Given the description of an element on the screen output the (x, y) to click on. 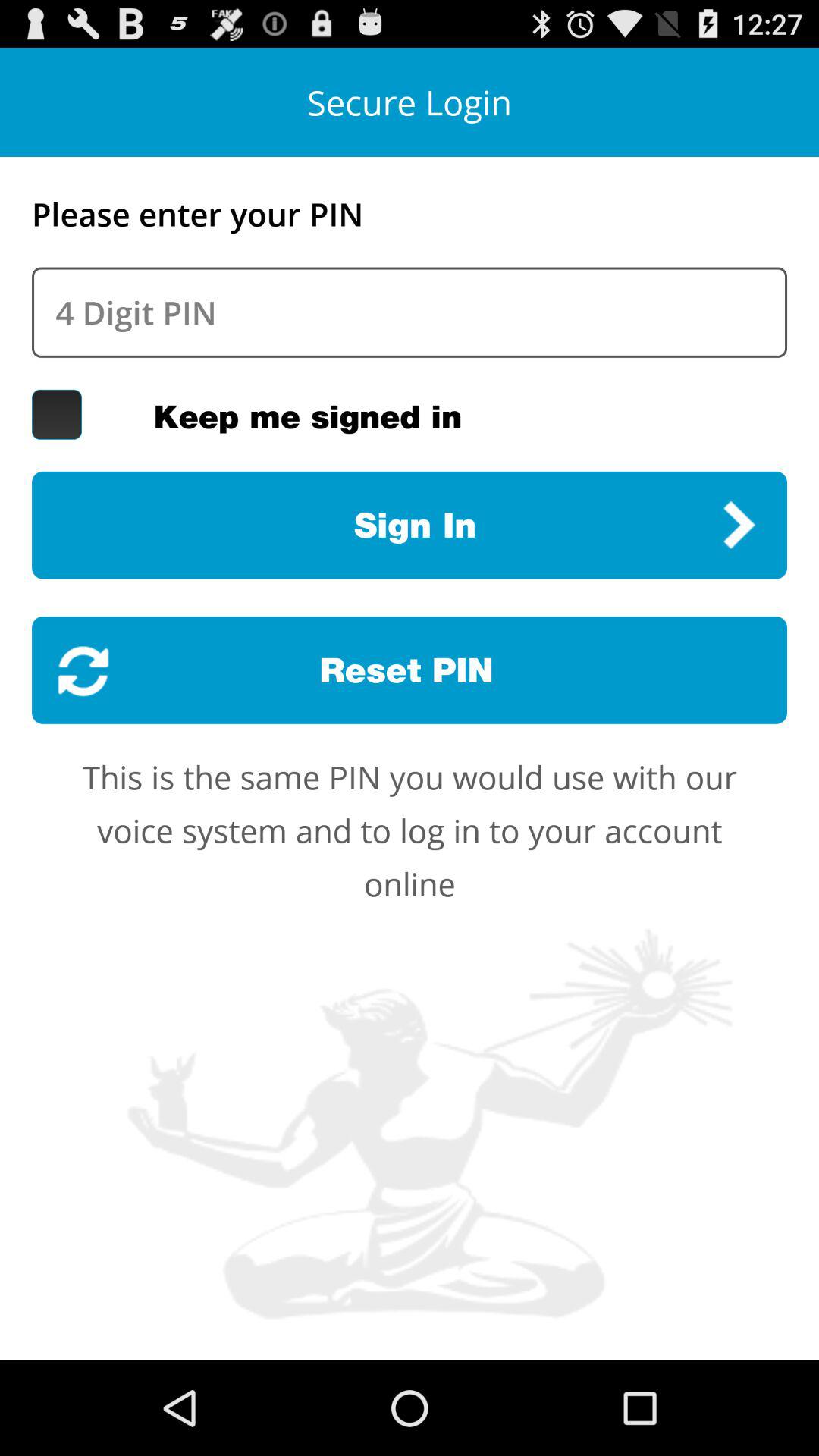
enter your pin number (409, 312)
